Given the description of an element on the screen output the (x, y) to click on. 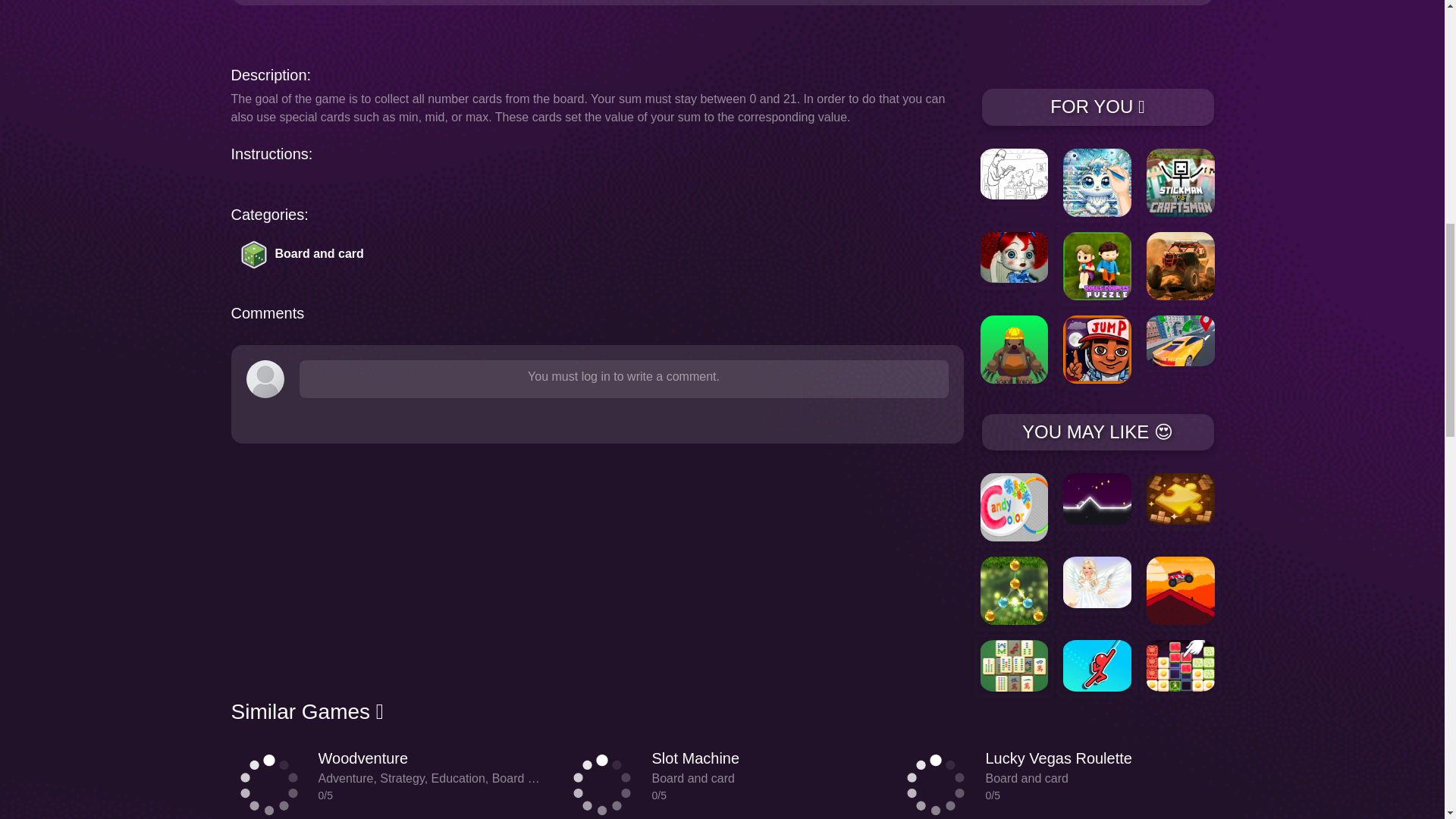
Board and card (307, 260)
